Given the description of an element on the screen output the (x, y) to click on. 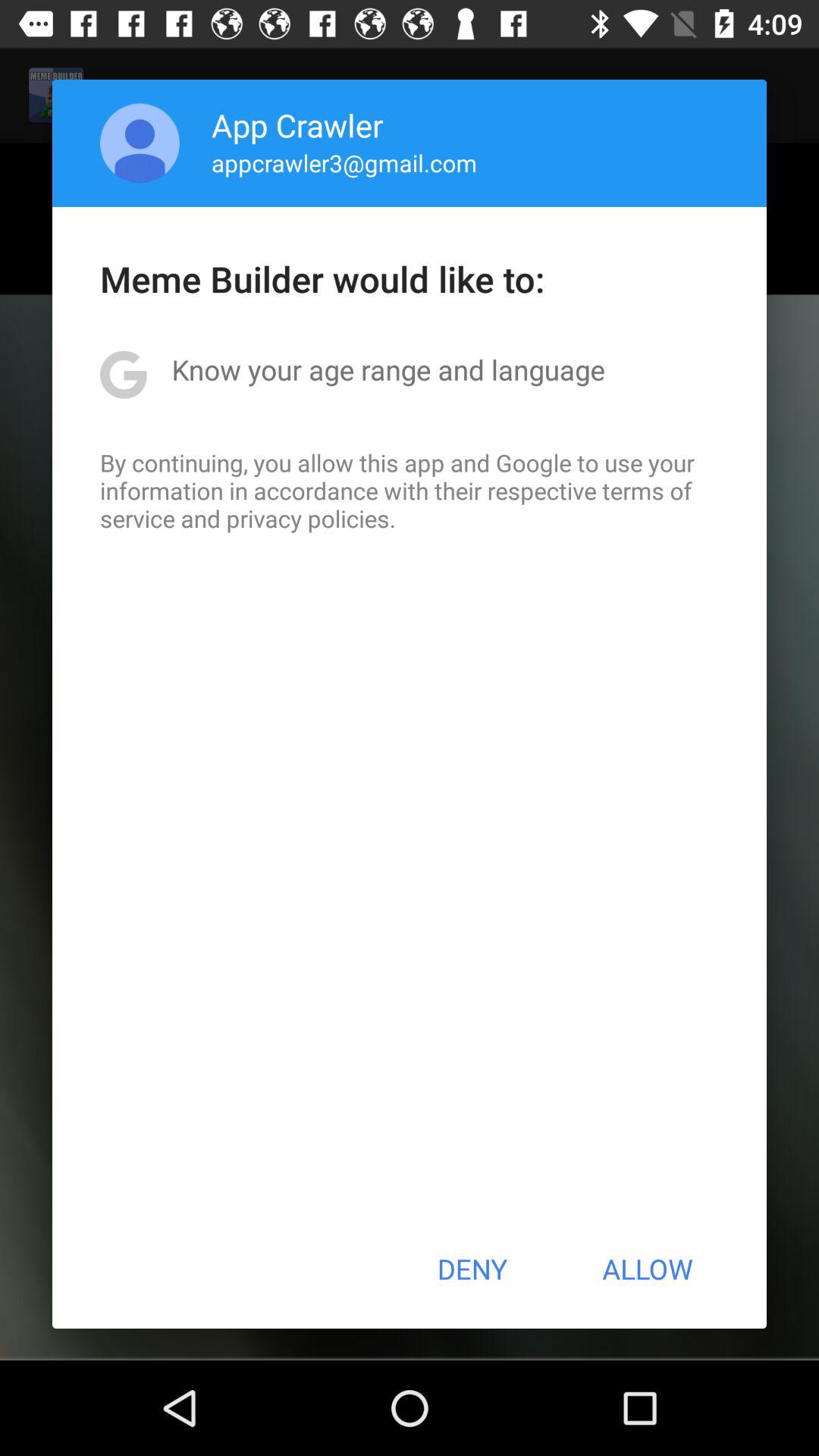
press know your age icon (388, 369)
